Given the description of an element on the screen output the (x, y) to click on. 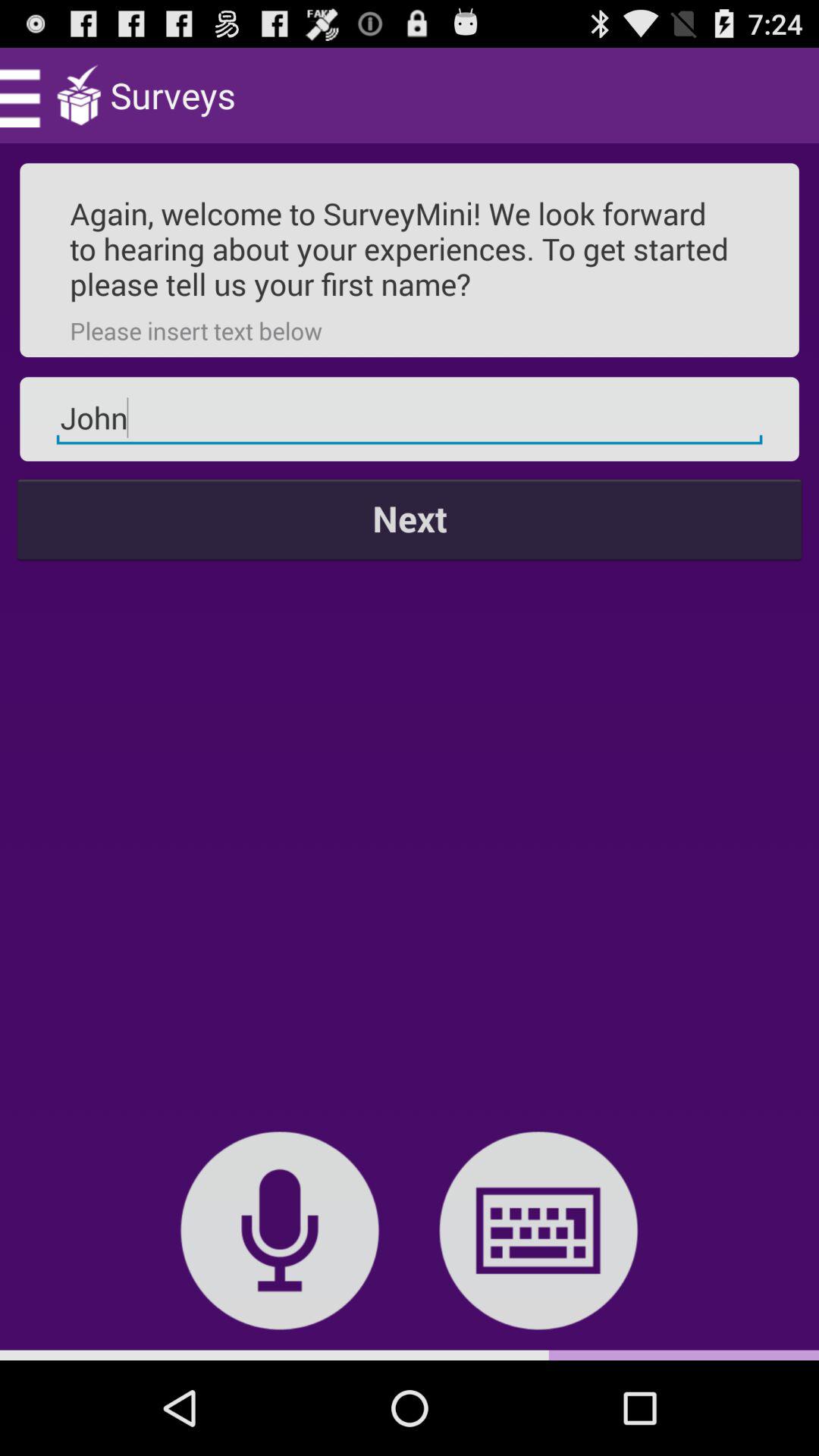
launch icon below john icon (409, 518)
